Given the description of an element on the screen output the (x, y) to click on. 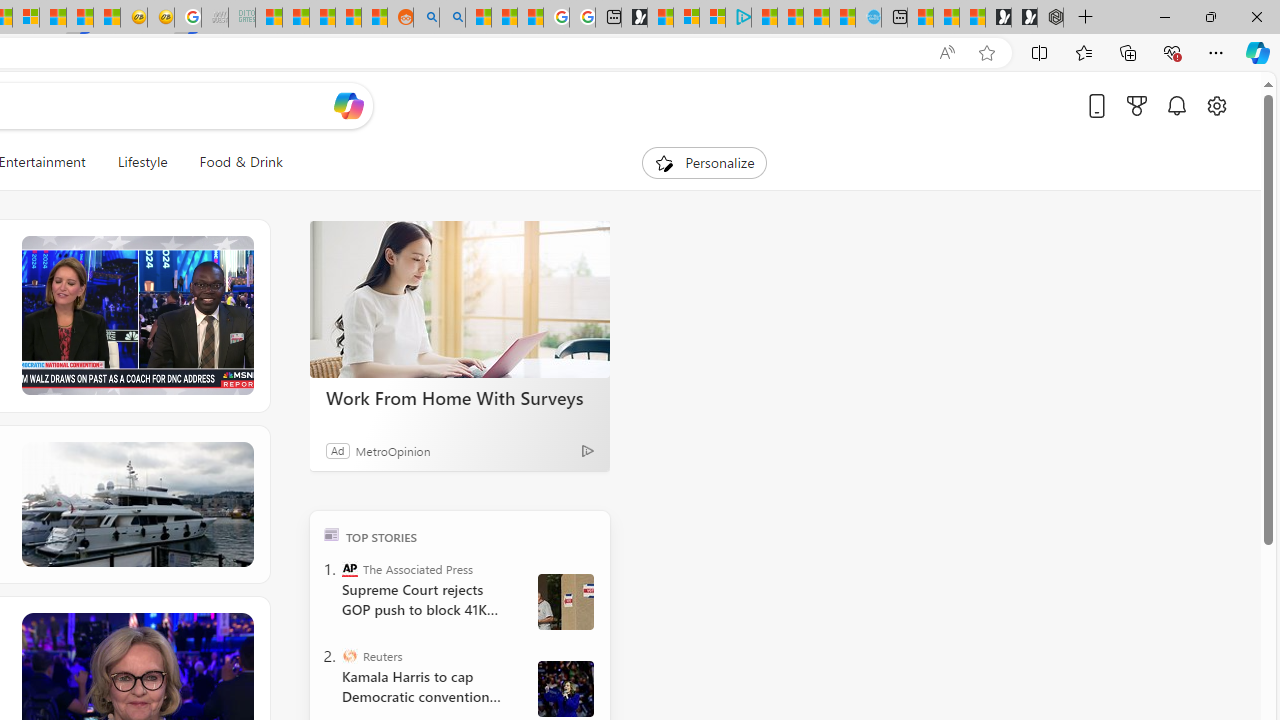
Ad Choice (587, 449)
Microsoft Start Gaming (634, 17)
MSN (79, 17)
The Associated Press (349, 568)
Lifestyle (142, 162)
Personalize (703, 162)
Play Free Online Games | Games from Microsoft Start (1024, 17)
Work From Home With Surveys (459, 397)
Ad (338, 450)
Student Loan Update: Forgiveness Program Ends This Month (347, 17)
